Given the description of an element on the screen output the (x, y) to click on. 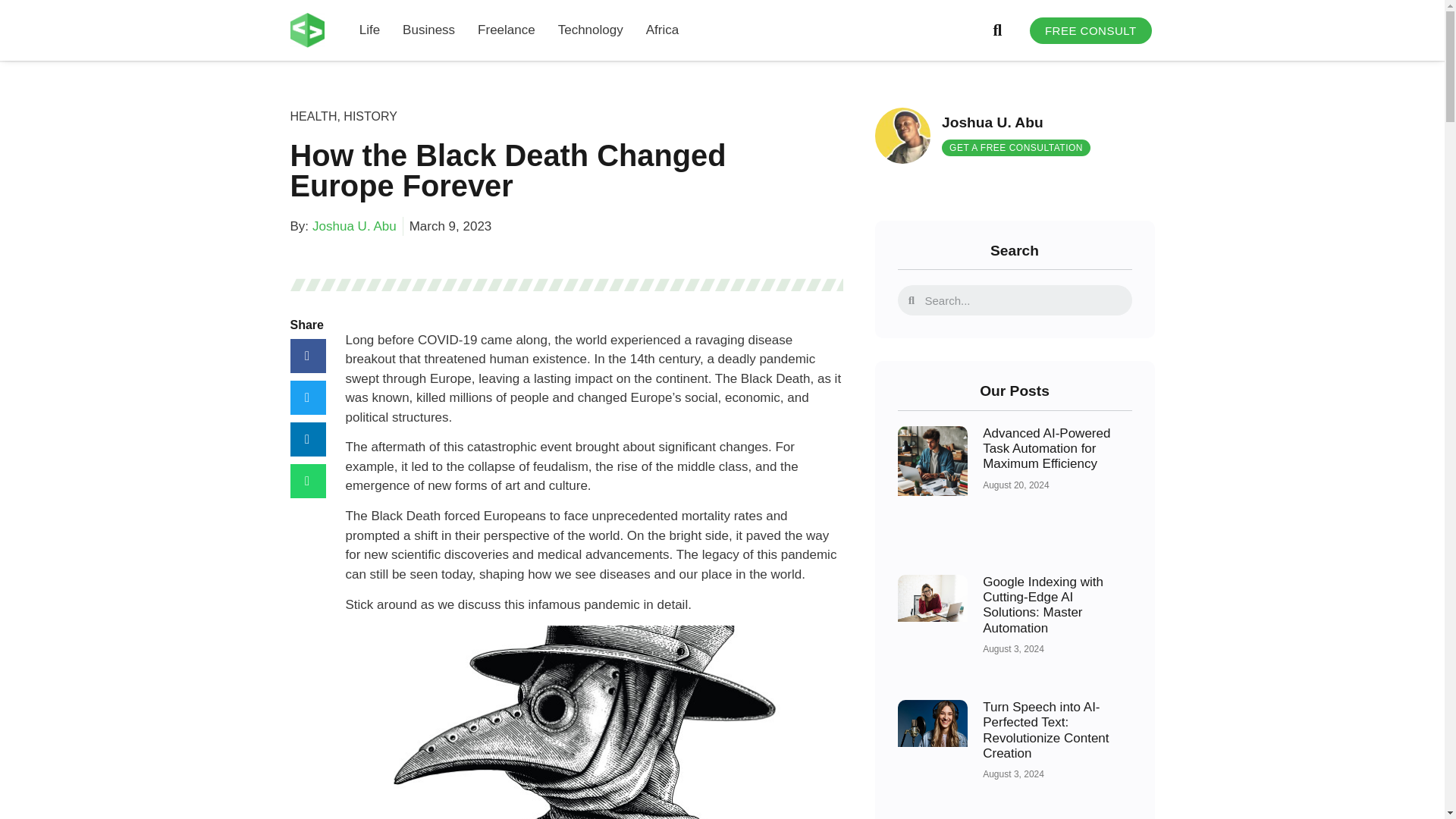
Business (428, 29)
Search (1022, 299)
Technology (590, 29)
Freelance (506, 29)
Africa (662, 29)
FREE CONSULT (1090, 29)
Life (369, 29)
